Given the description of an element on the screen output the (x, y) to click on. 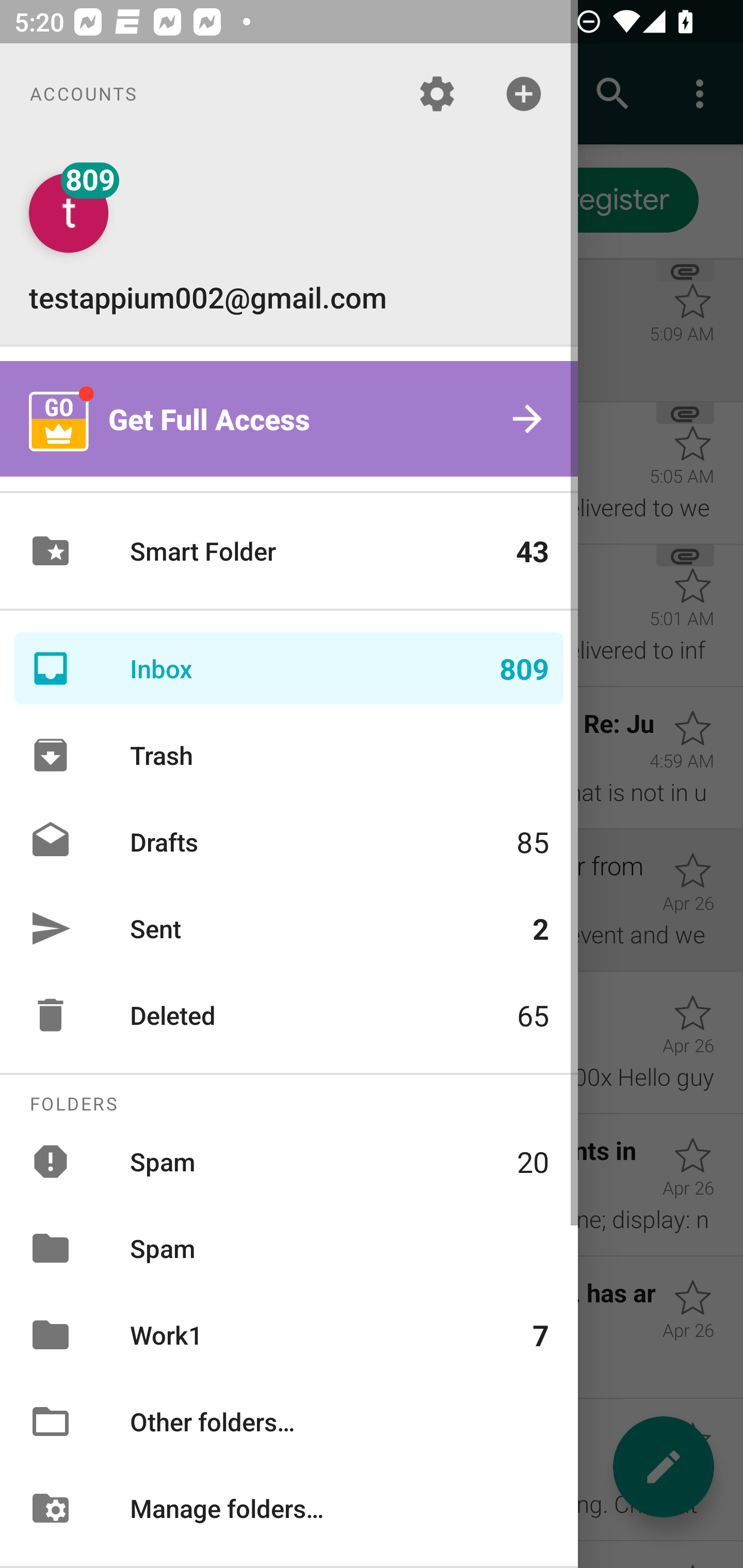
testappium002@gmail.com (289, 244)
Get Full Access (289, 418)
Smart Folder 43 (289, 551)
Inbox 809 (289, 668)
Trash (289, 754)
Drafts 85 (289, 841)
Sent 2 (289, 928)
Deleted 65 (289, 1015)
Spam 20 (289, 1160)
Spam (289, 1248)
Work1 7 (289, 1335)
Other folders… (289, 1421)
Manage folders… (289, 1507)
